Given the description of an element on the screen output the (x, y) to click on. 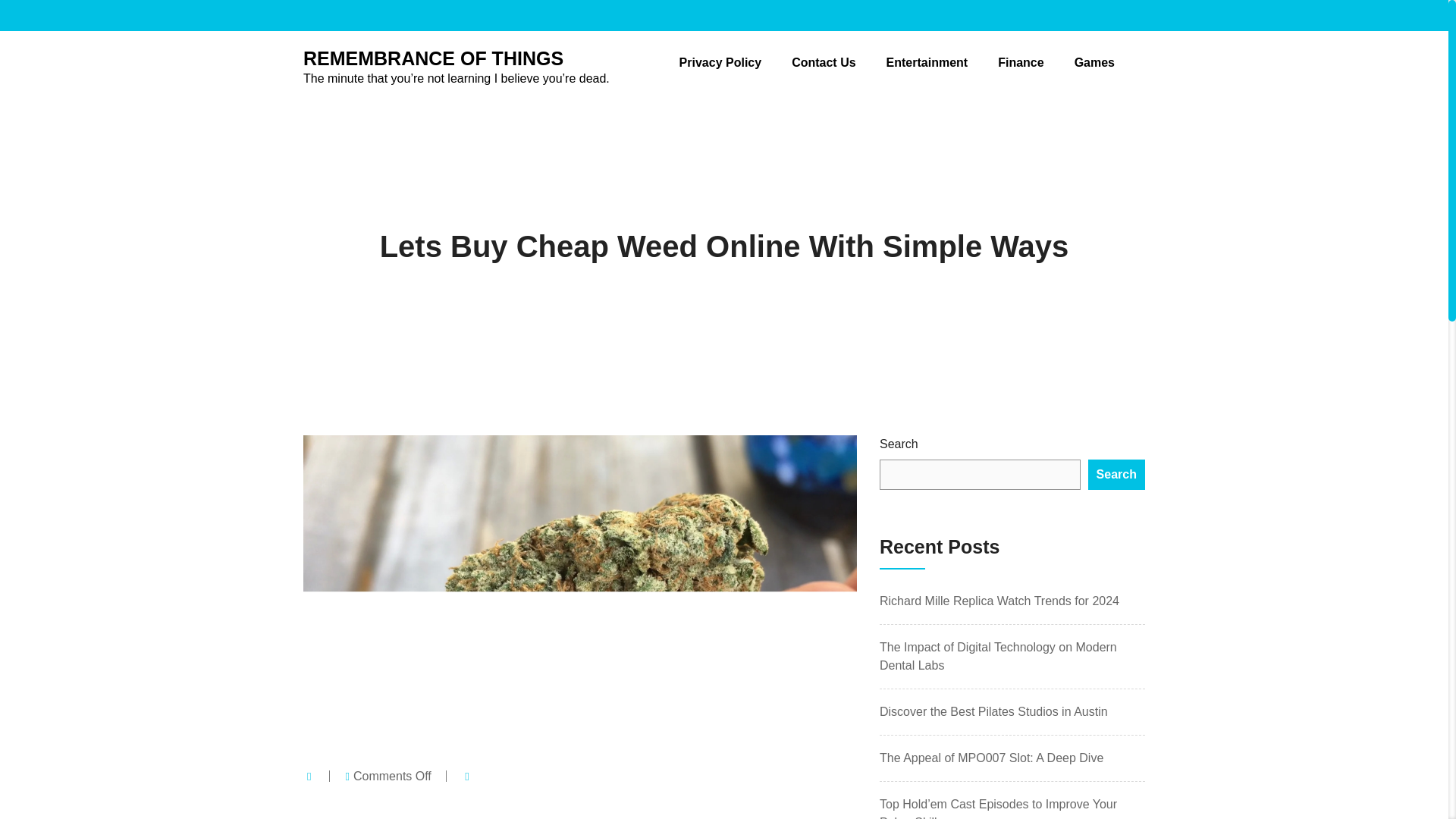
Discover the Best Pilates Studios in Austin (993, 711)
Search (1115, 474)
Richard Mille Replica Watch Trends for 2024 (999, 600)
The Appeal of MPO007 Slot: A Deep Dive (991, 757)
Contact Us (824, 62)
The Impact of Digital Technology on Modern Dental Labs (997, 655)
Finance (1020, 62)
Lets Buy Cheap Weed Online With Simple Ways (724, 246)
Privacy Policy (720, 62)
Entertainment (927, 62)
